Given the description of an element on the screen output the (x, y) to click on. 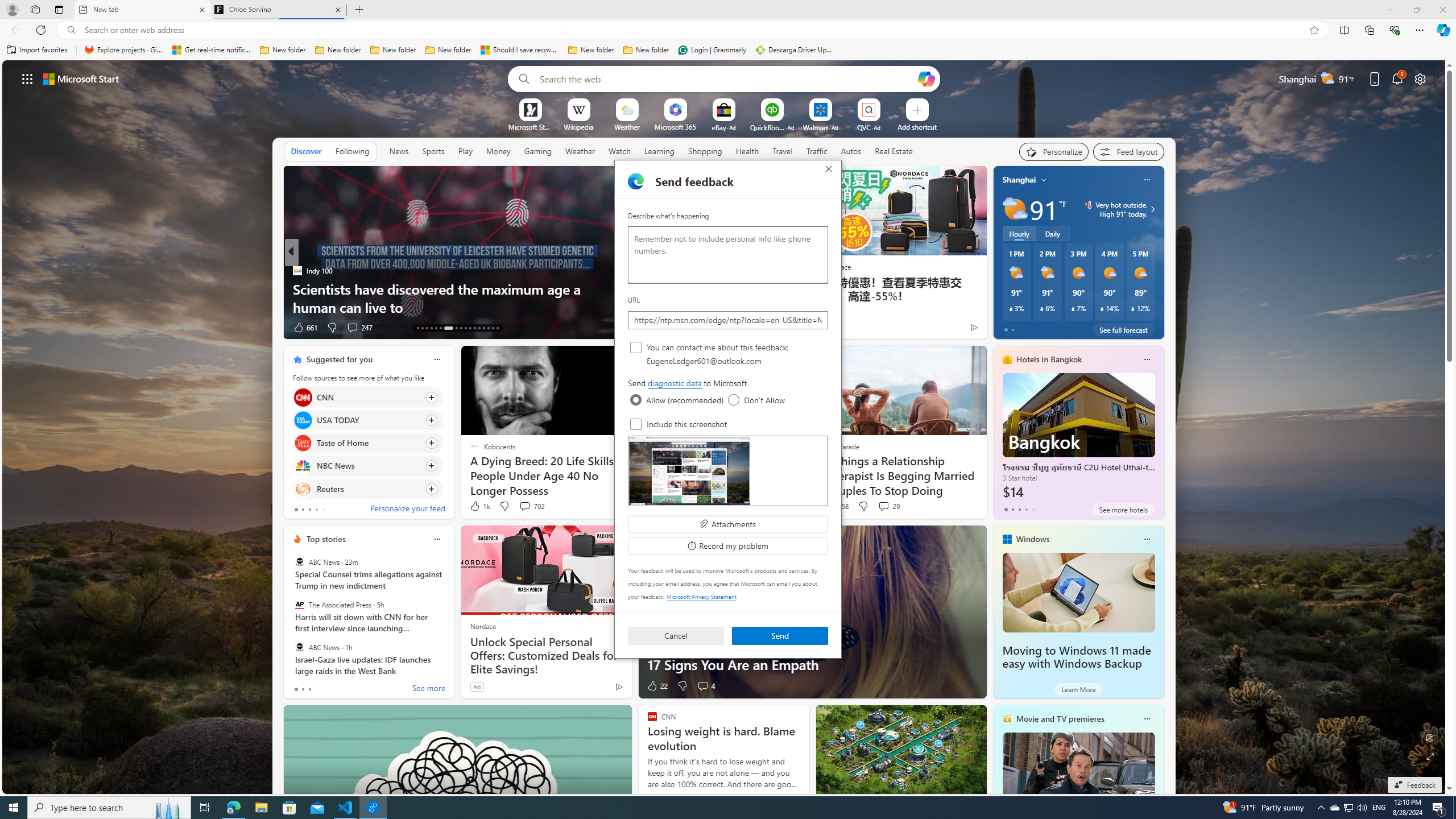
Gaming (537, 151)
Travel (782, 151)
Click to follow source CNN (367, 397)
Type here to search (108, 807)
AutomationID: tab-41 (492, 328)
hotels-header-icon (1006, 358)
Play (465, 151)
